Given the description of an element on the screen output the (x, y) to click on. 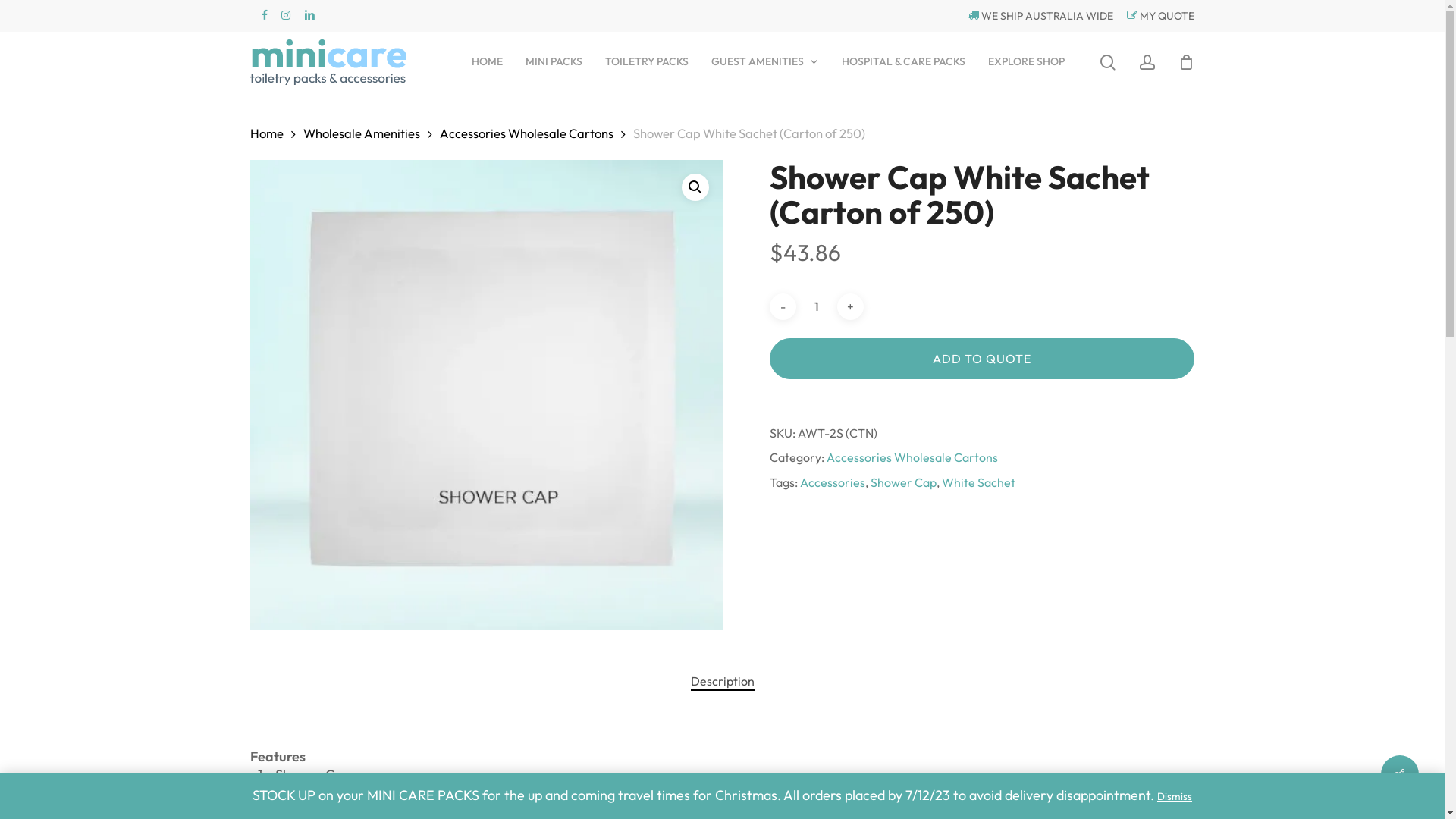
TOILETRY PACKS Element type: text (646, 61)
Accessories Element type: text (832, 481)
Accessories Wholesale Cartons Element type: text (911, 456)
search Element type: text (1107, 62)
Home Element type: text (266, 132)
HOSPITAL & CARE PACKS Element type: text (903, 61)
Shower Cap Element type: text (903, 481)
MINI PACKS Element type: text (553, 61)
Accessories Wholesale Cartons Element type: text (526, 132)
EXPLORE SHOP Element type: text (1026, 61)
white-sachet-shower-cap.jpg Element type: hover (486, 395)
MY QUOTE Element type: text (1154, 15)
Wholesale Amenities Element type: text (361, 132)
ADD TO QUOTE Element type: text (981, 358)
HOME Element type: text (486, 61)
Description Element type: text (721, 680)
GUEST AMENITIES Element type: text (765, 61)
Qty Element type: hover (816, 306)
account Element type: text (1147, 62)
White Sachet Element type: text (978, 481)
Dismiss Element type: text (1174, 796)
